Given the description of an element on the screen output the (x, y) to click on. 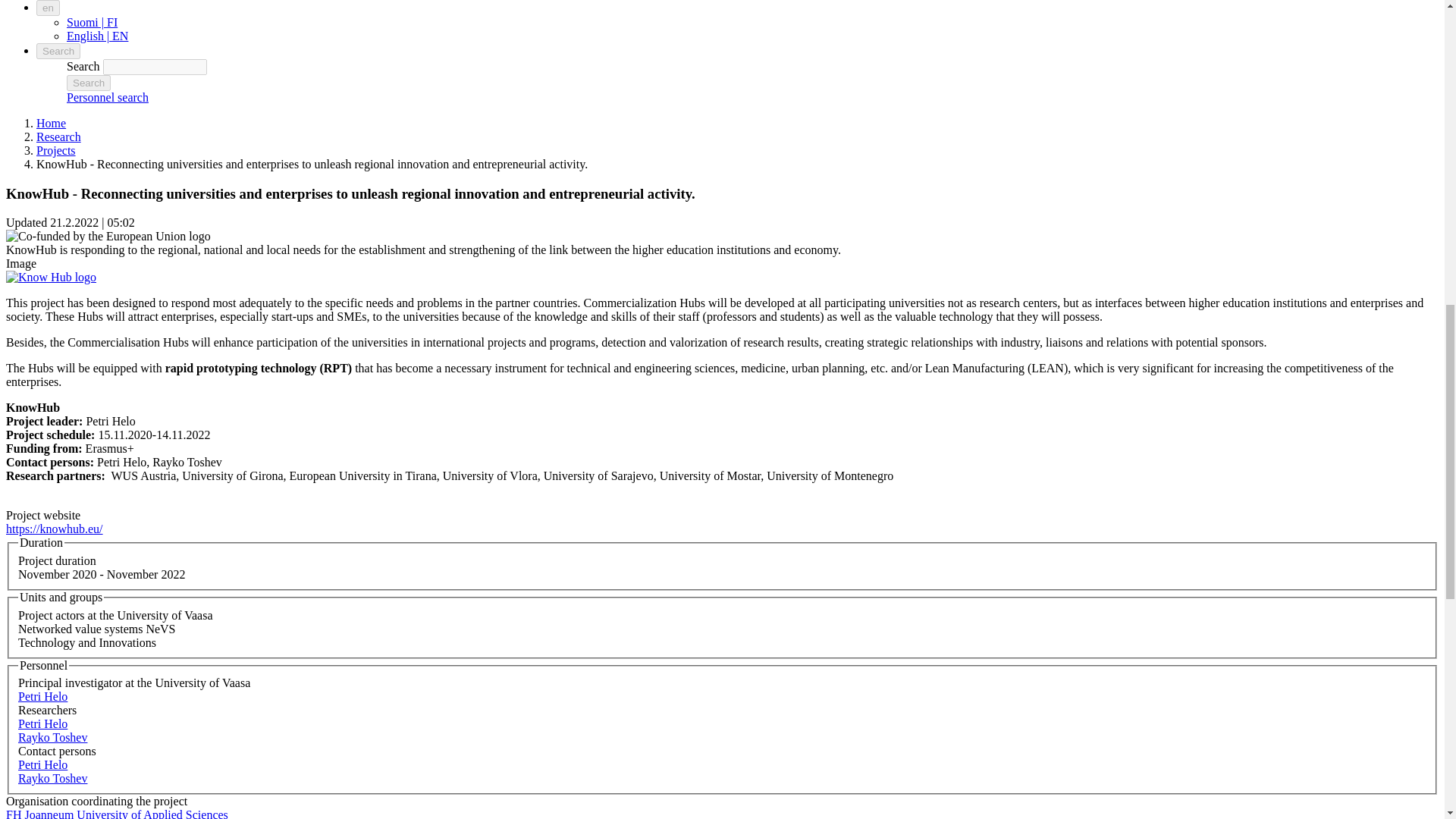
Know Hub logo (50, 277)
Search (88, 82)
Enter the terms you wish to search for. (154, 66)
